Given the description of an element on the screen output the (x, y) to click on. 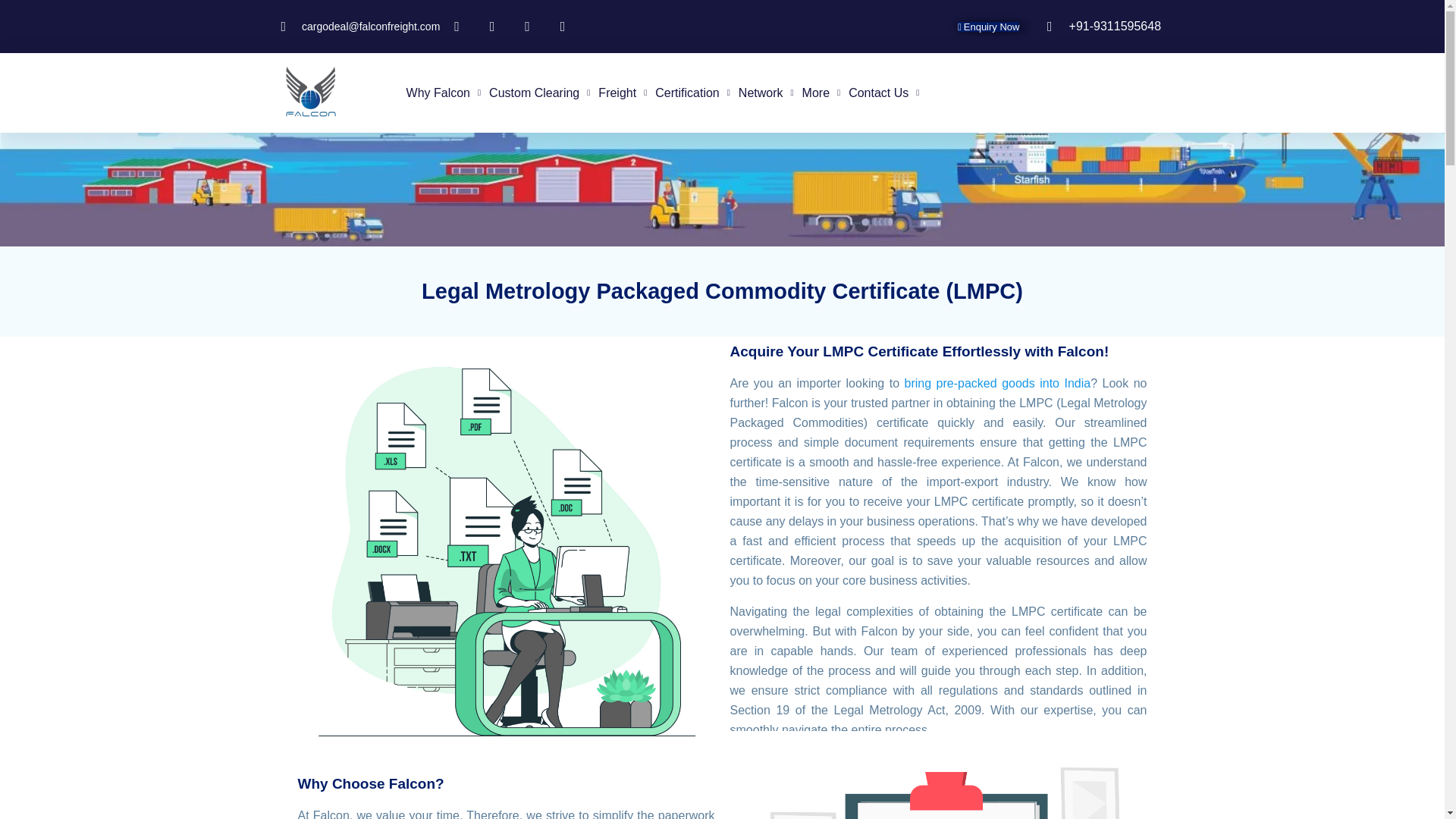
Enquiry Now (988, 26)
Why Falcon (443, 93)
Freight (622, 93)
Custom Clearing (539, 93)
